Given the description of an element on the screen output the (x, y) to click on. 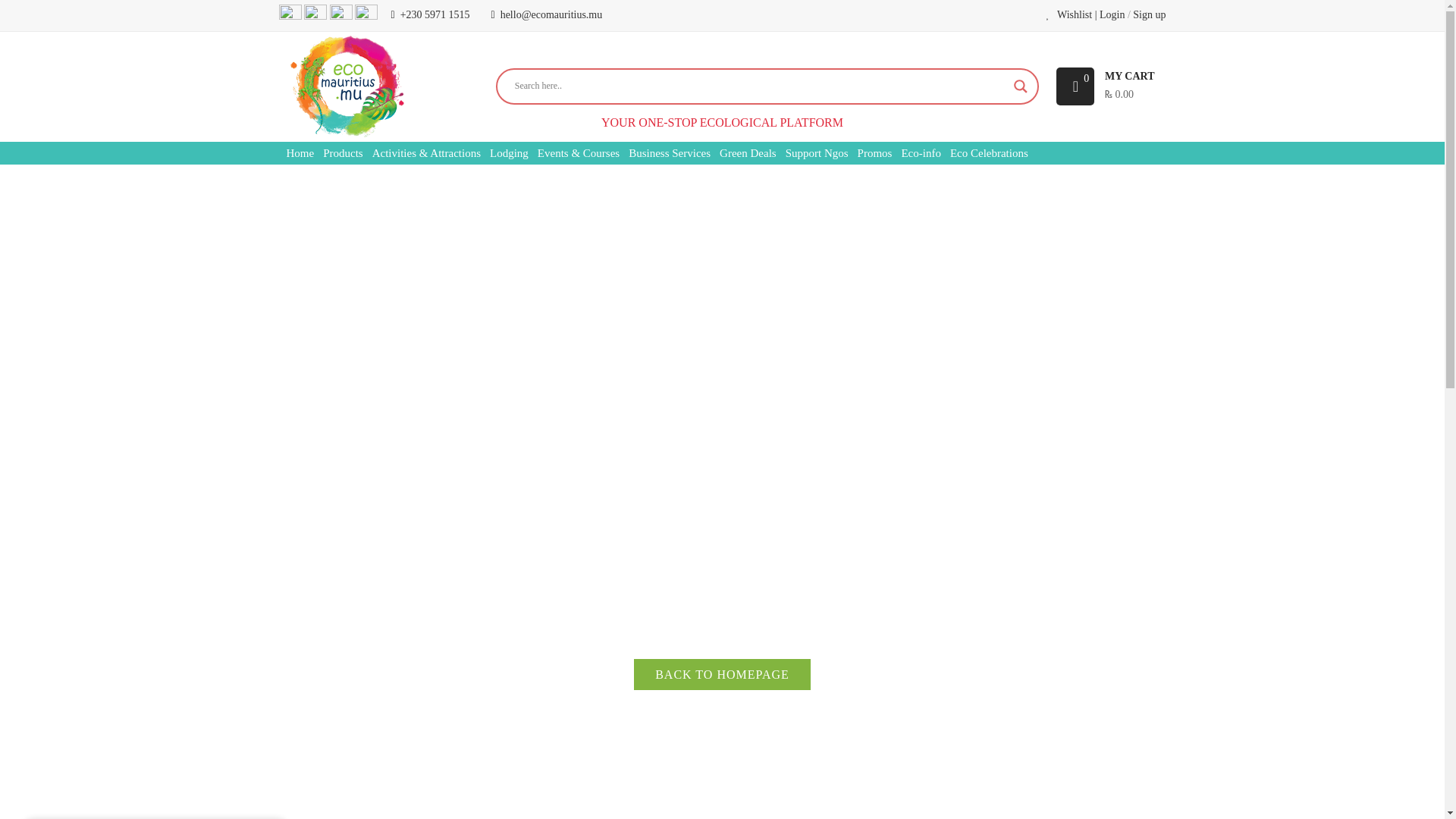
Telephone (435, 14)
Eco Mauritius (346, 86)
Login (1111, 15)
Wish list (1070, 14)
Create New Account (1149, 15)
